Given the description of an element on the screen output the (x, y) to click on. 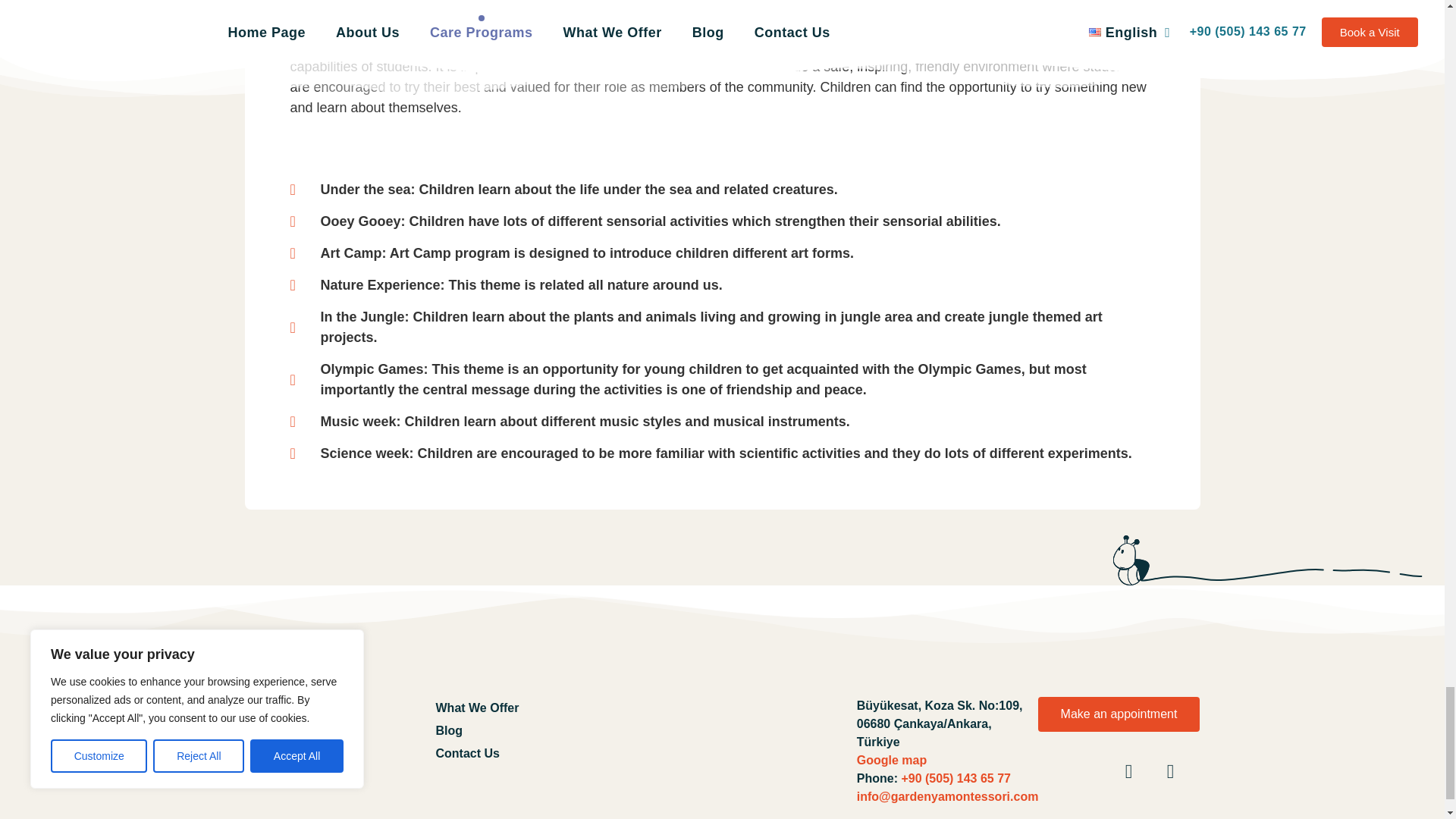
h-15 (339, 730)
